Given the description of an element on the screen output the (x, y) to click on. 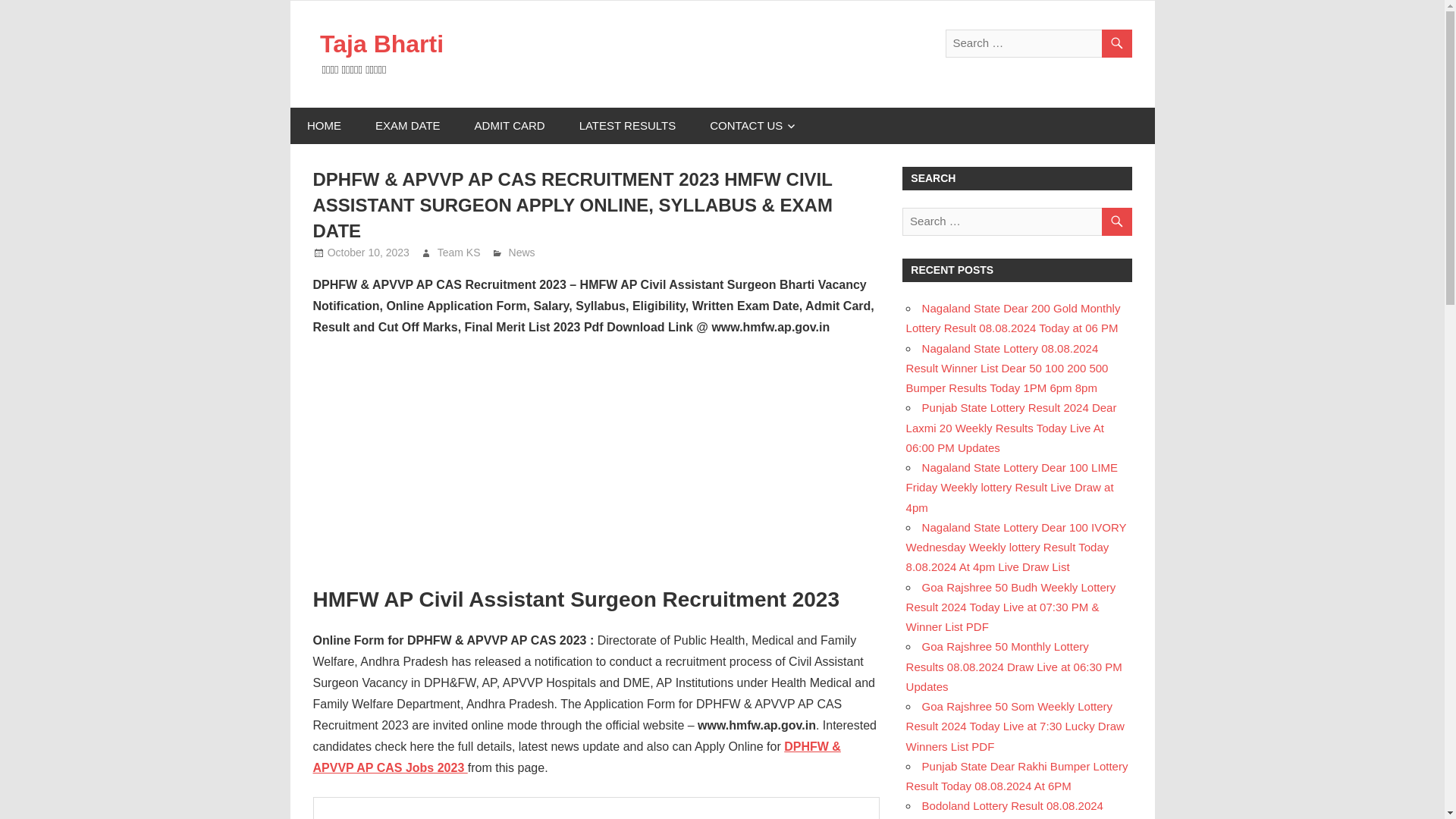
Advertisement (596, 462)
Search for: (1016, 221)
LATEST RESULTS (627, 125)
9:21 am (368, 252)
Taja Bharti (382, 43)
News (521, 252)
View all posts by Team KS (459, 252)
